Given the description of an element on the screen output the (x, y) to click on. 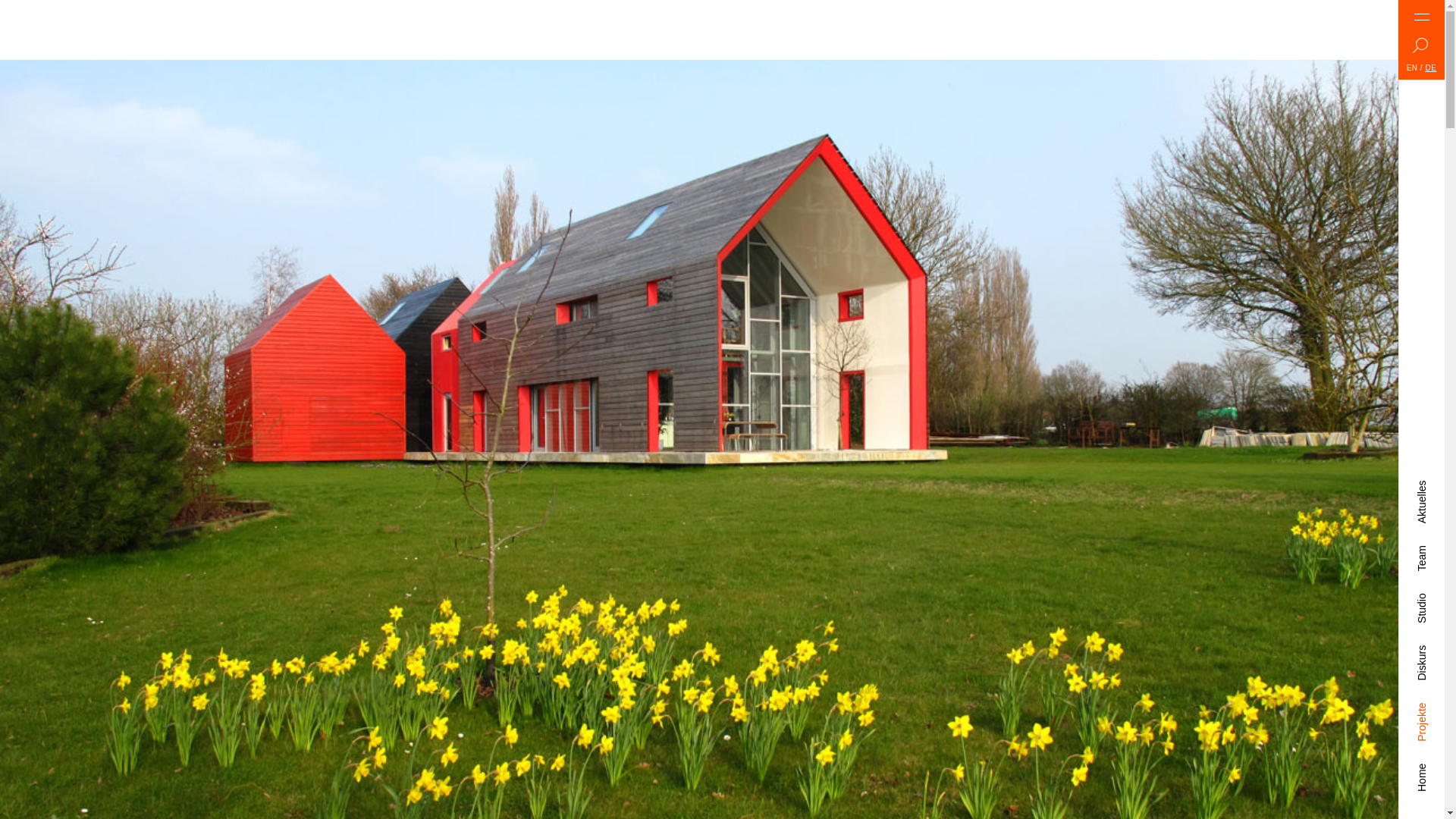
Team (1428, 551)
Home (1429, 769)
